Given the description of an element on the screen output the (x, y) to click on. 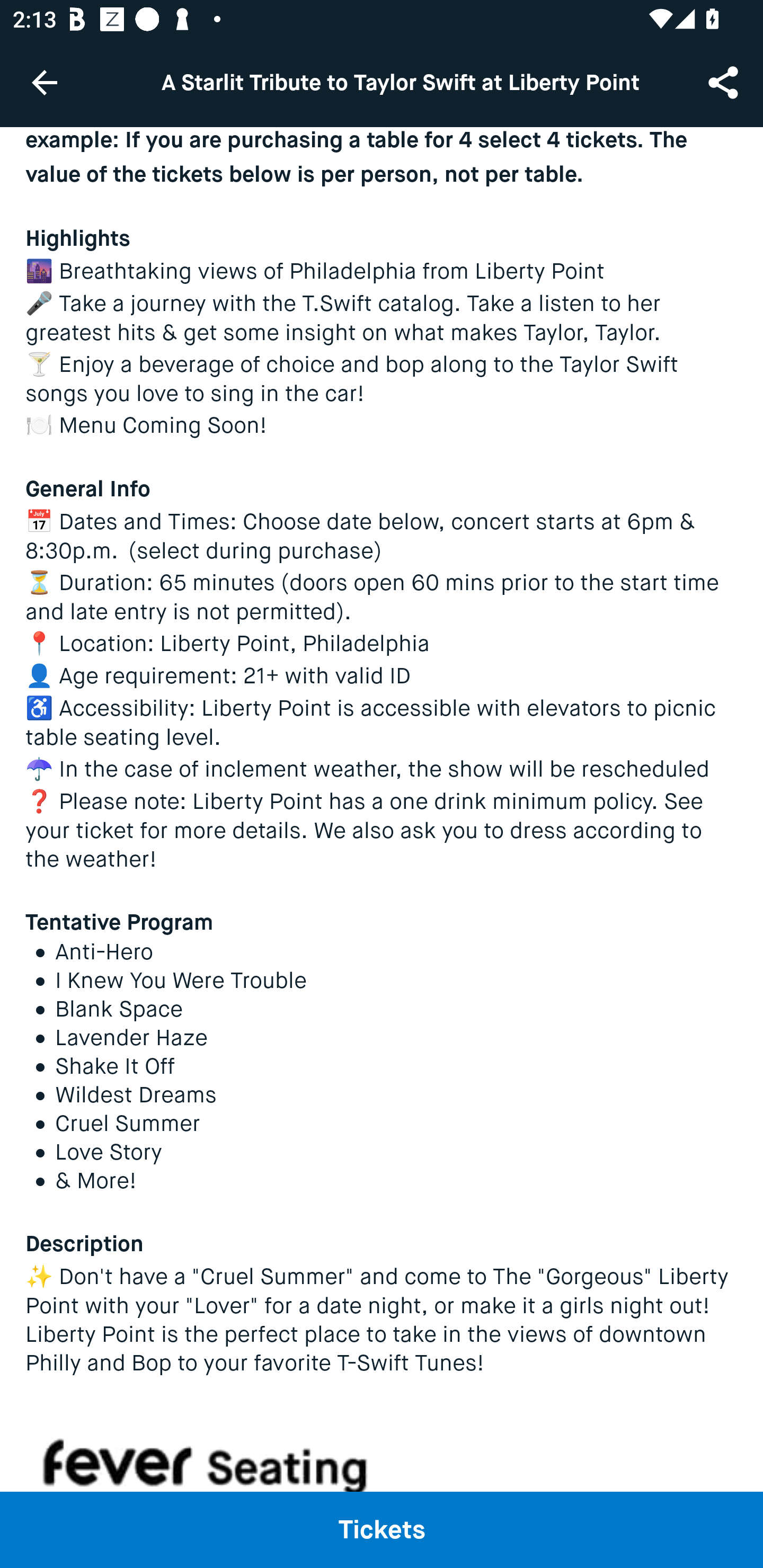
Navigate up (44, 82)
Share (724, 81)
Tickets (381, 1529)
